Given the description of an element on the screen output the (x, y) to click on. 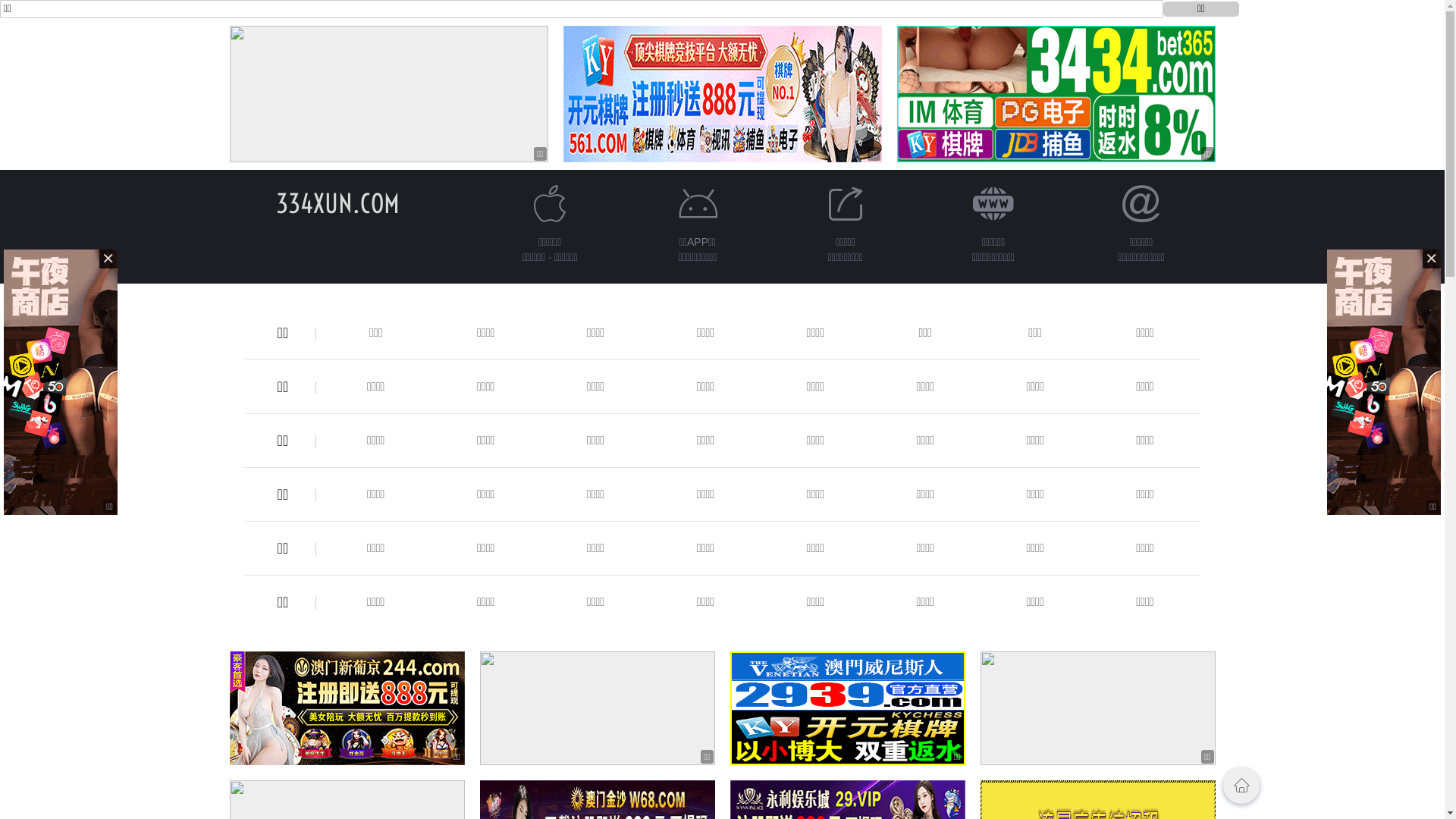
334XUN.COM Element type: text (337, 203)
